Given the description of an element on the screen output the (x, y) to click on. 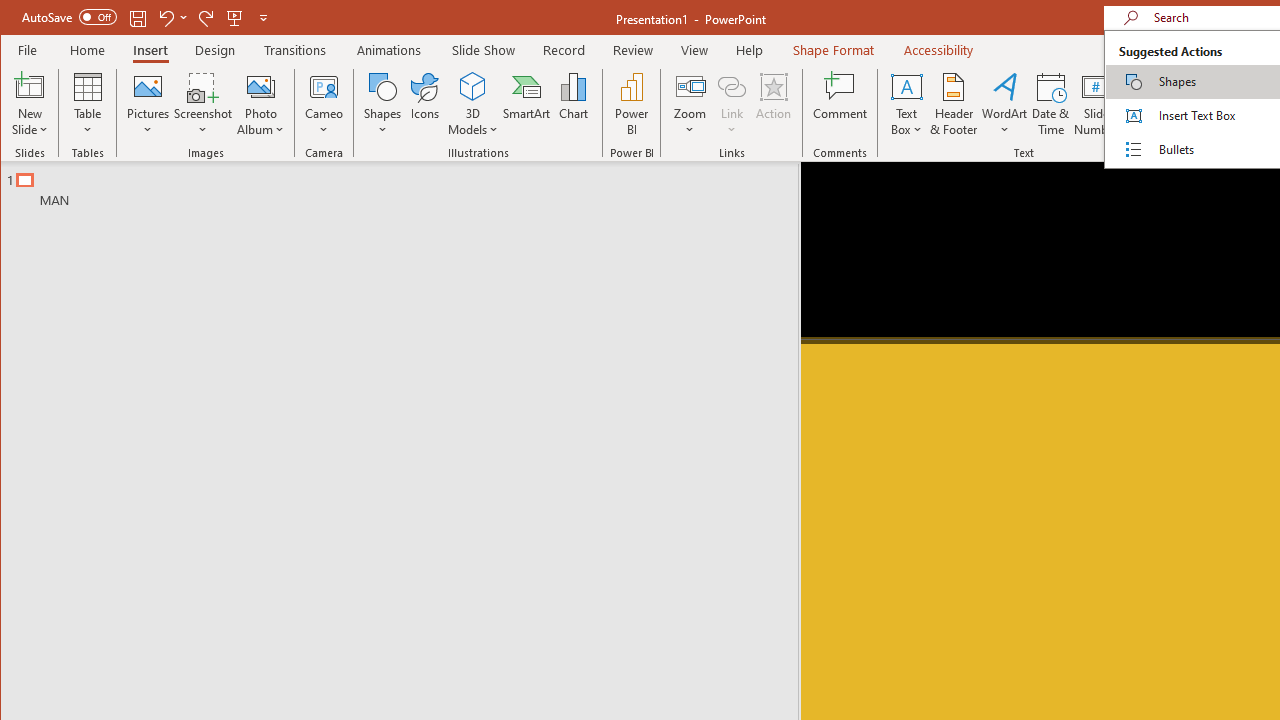
Symbol... (1253, 104)
Screenshot (203, 104)
Table (87, 104)
Comment (840, 104)
New Photo Album... (260, 86)
Link (731, 104)
Chart... (573, 104)
Equation (1204, 86)
